Given the description of an element on the screen output the (x, y) to click on. 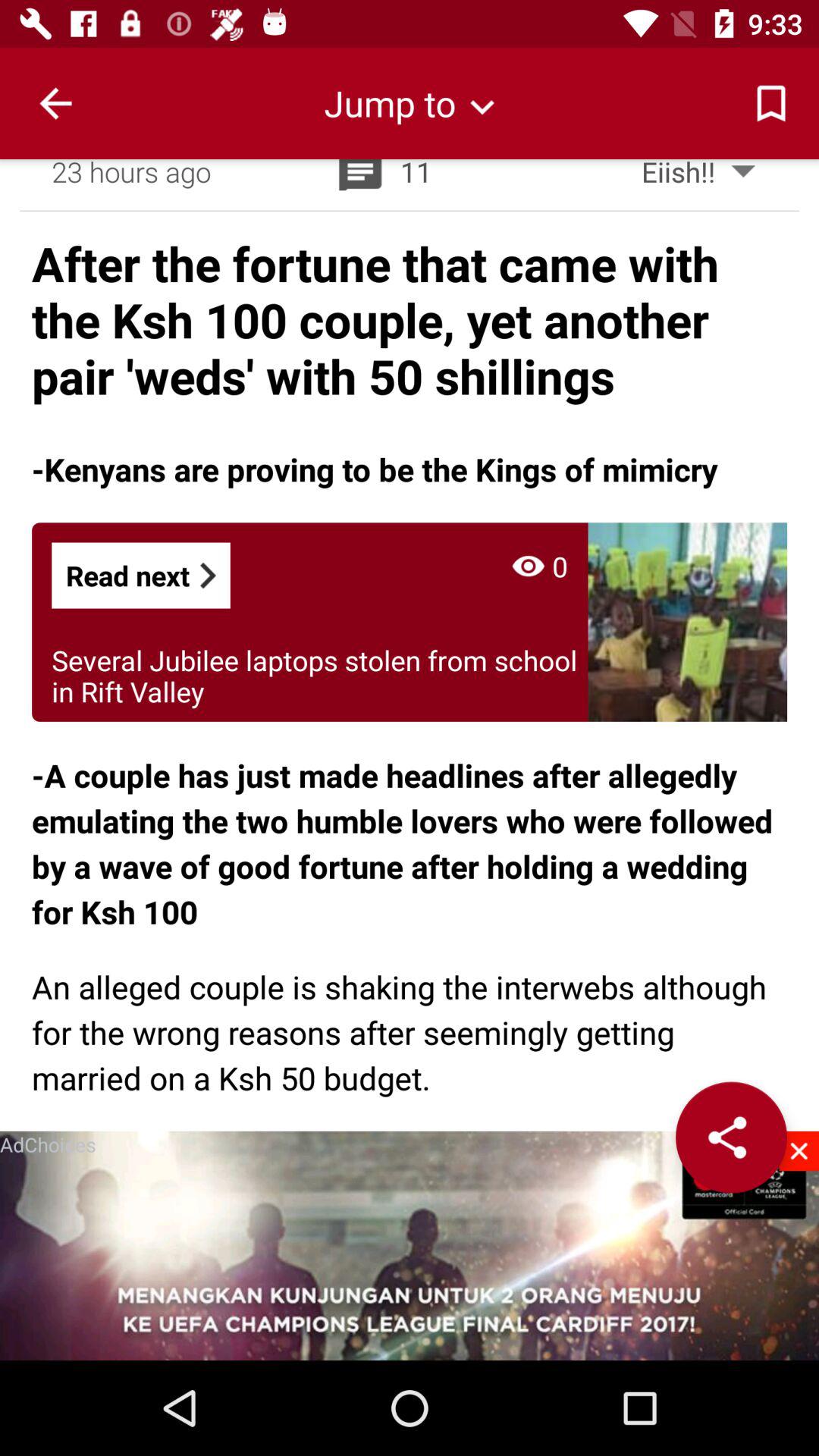
jump to next publication (409, 103)
